Given the description of an element on the screen output the (x, y) to click on. 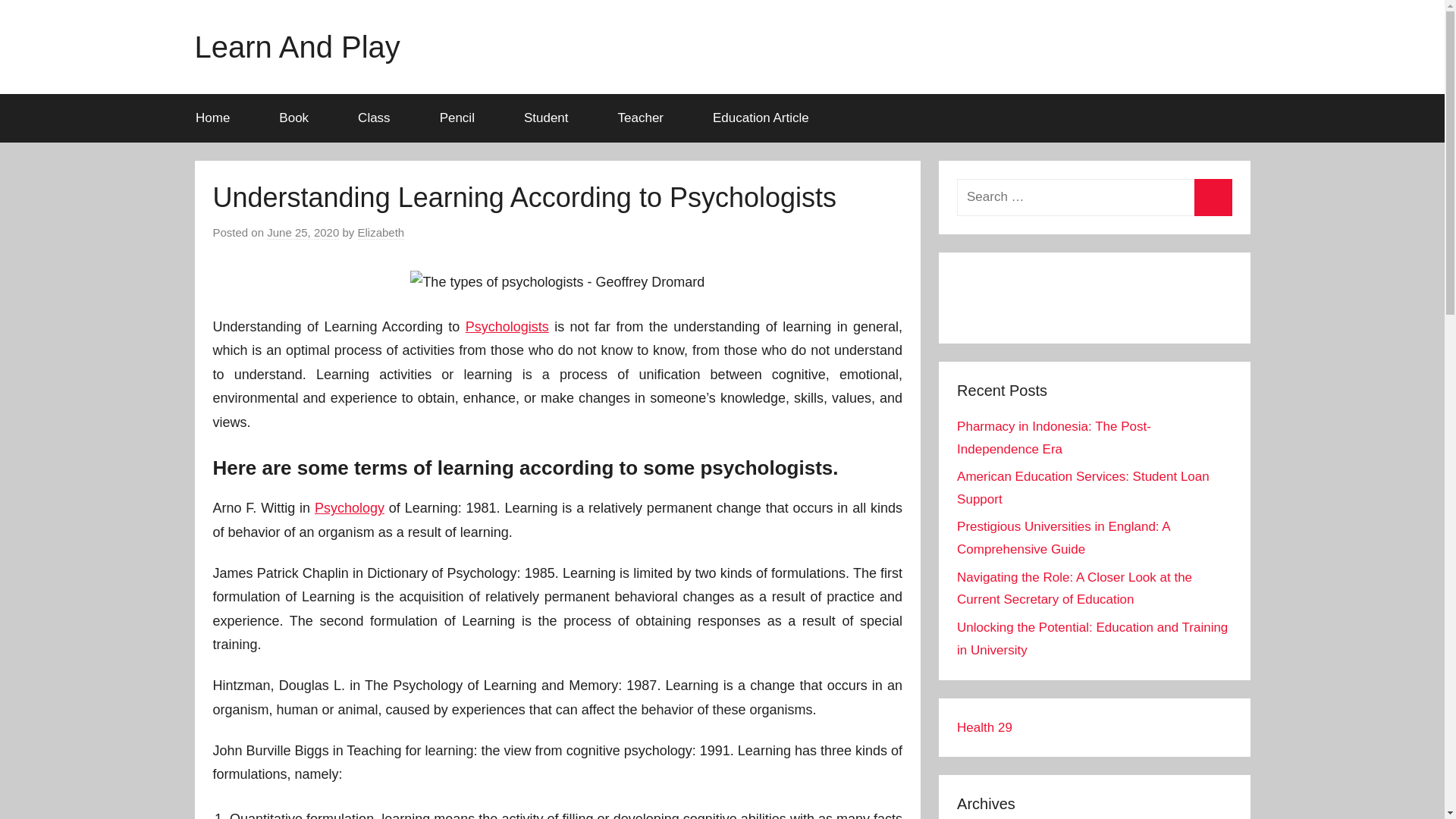
Elizabeth (381, 232)
Teacher (645, 118)
June 25, 2020 (302, 232)
Search for: (1093, 197)
Student (550, 118)
Class (379, 118)
Psychology (349, 507)
Psychologists (506, 326)
Education Article (761, 118)
Pencil (461, 118)
Learn And Play (295, 46)
Search (1212, 197)
Home (217, 118)
Book (299, 118)
View all posts by Elizabeth (381, 232)
